Given the description of an element on the screen output the (x, y) to click on. 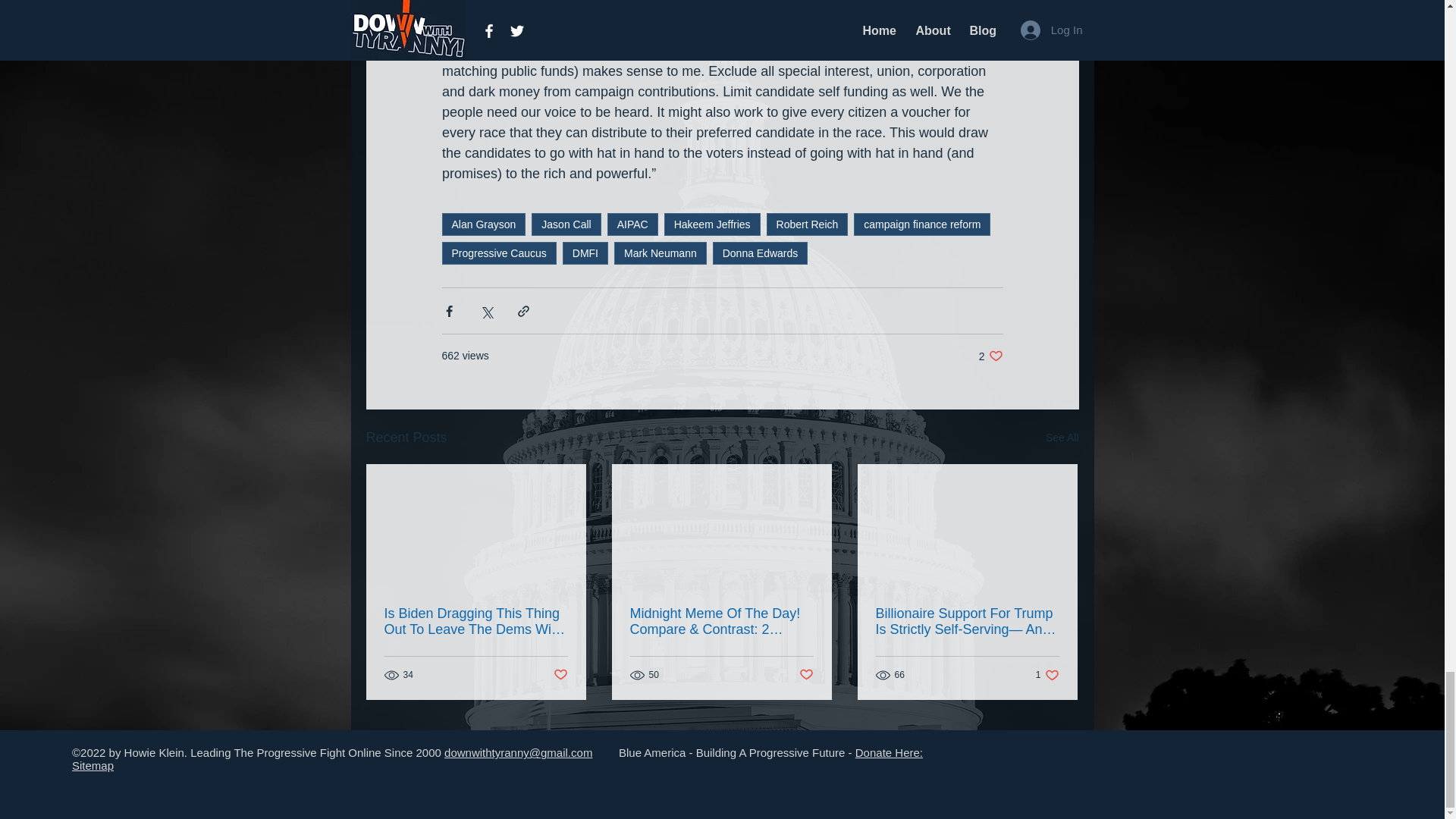
AIPAC (632, 223)
Hakeem Jeffries (711, 223)
Jason Call (565, 223)
Robert Reich (807, 223)
DMFI (585, 252)
Mark Neumann (660, 252)
Alan Grayson (483, 223)
campaign finance reform (921, 223)
Progressive Caucus (498, 252)
Donna Edwards (760, 252)
